Given the description of an element on the screen output the (x, y) to click on. 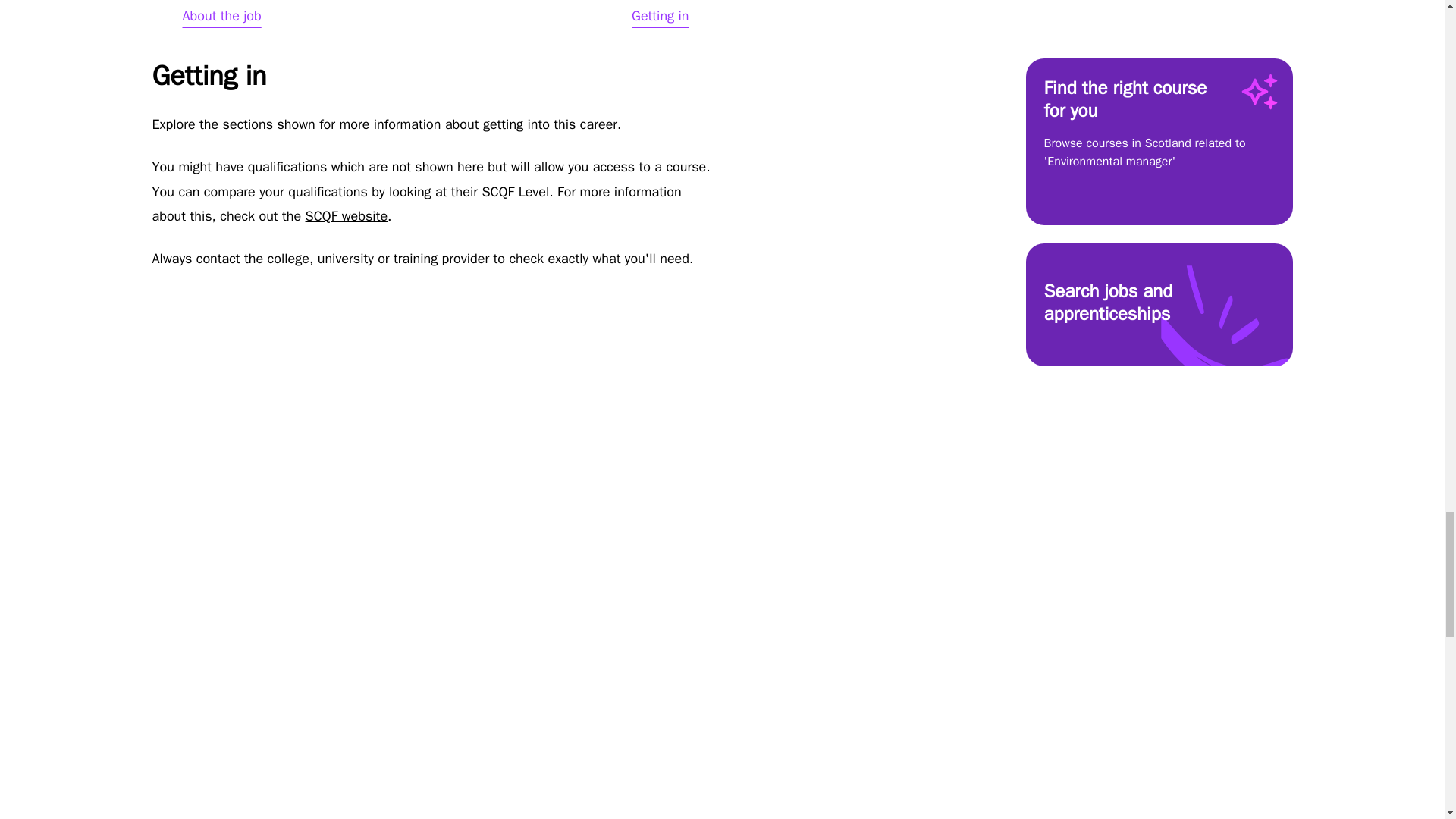
SCQF website (669, 13)
